Given the description of an element on the screen output the (x, y) to click on. 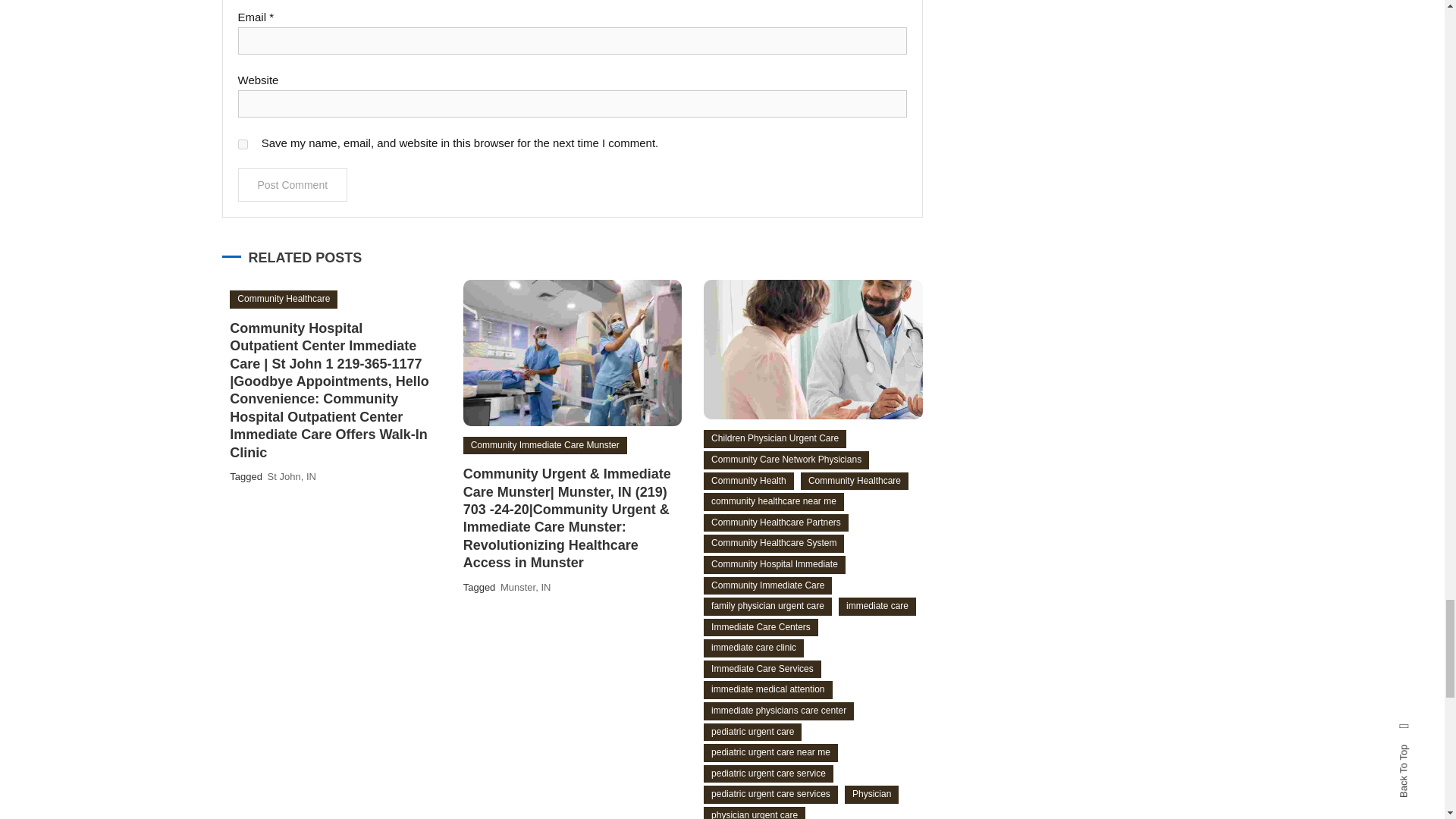
yes (242, 144)
Post Comment (292, 184)
